Given the description of an element on the screen output the (x, y) to click on. 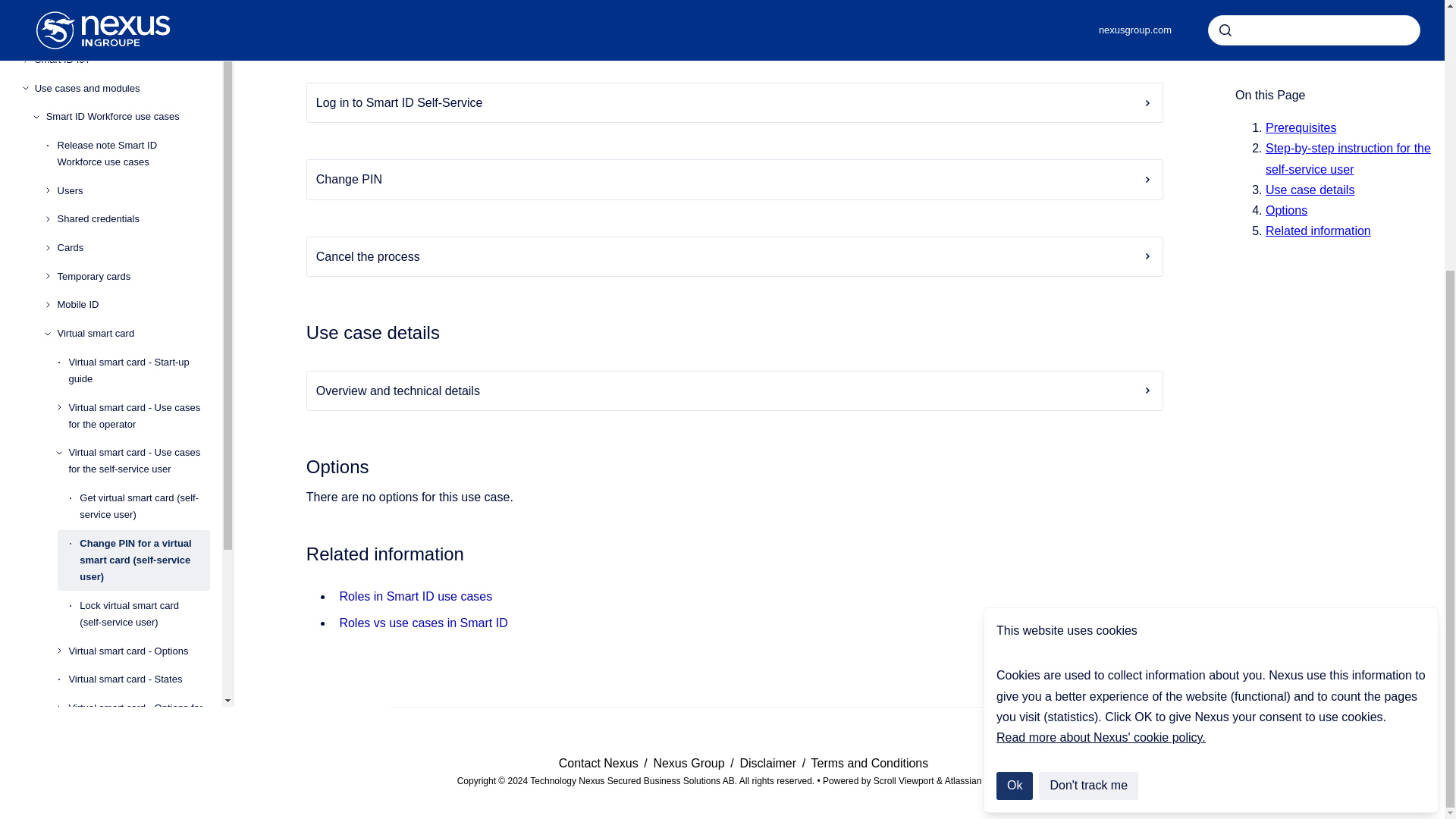
Read more about Nexus' cookie policy. (1100, 341)
Virtual smart card - Start-up guide (138, 87)
Virtual smart card (133, 50)
Temporary cards (133, 3)
Virtual smart card - Use cases for the operator (138, 133)
Virtual smart card - Use cases for the self-service user (138, 178)
Ok (1013, 389)
Mobile ID (133, 22)
Don't track me (1088, 389)
